Given the description of an element on the screen output the (x, y) to click on. 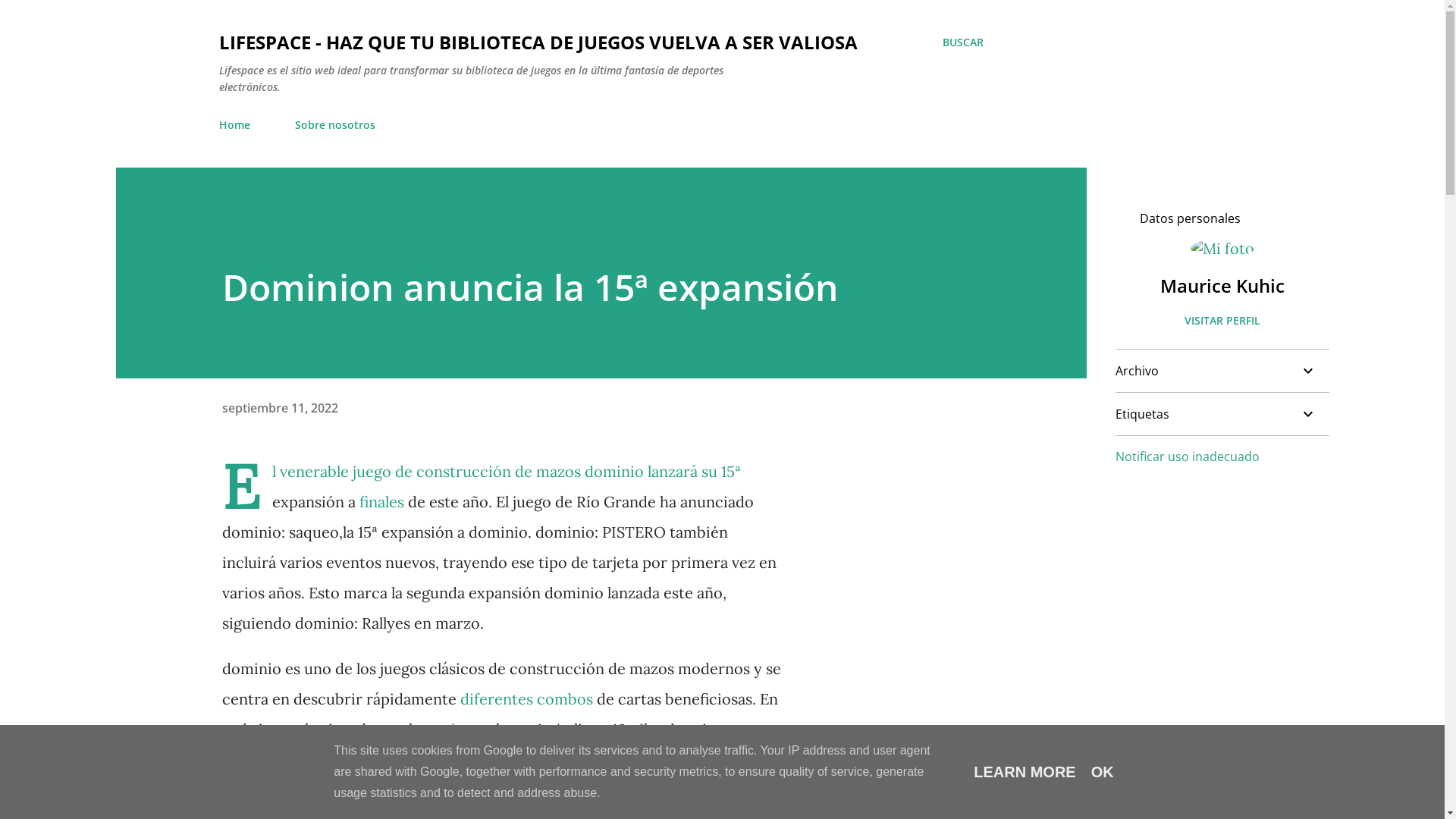
VISITAR PERFIL Element type: text (1221, 320)
LEARN MORE Element type: text (1024, 771)
Home Element type: text (238, 124)
finales Element type: text (381, 501)
Notificar uso inadecuado Element type: text (1186, 456)
el juego Element type: text (330, 789)
Sobre nosotros Element type: text (334, 124)
OK Element type: text (1102, 771)
Maurice Kuhic Element type: text (1221, 285)
septiembre 11, 2022 Element type: text (279, 406)
diferentes combos Element type: text (525, 698)
BUSCAR Element type: text (961, 42)
